Given the description of an element on the screen output the (x, y) to click on. 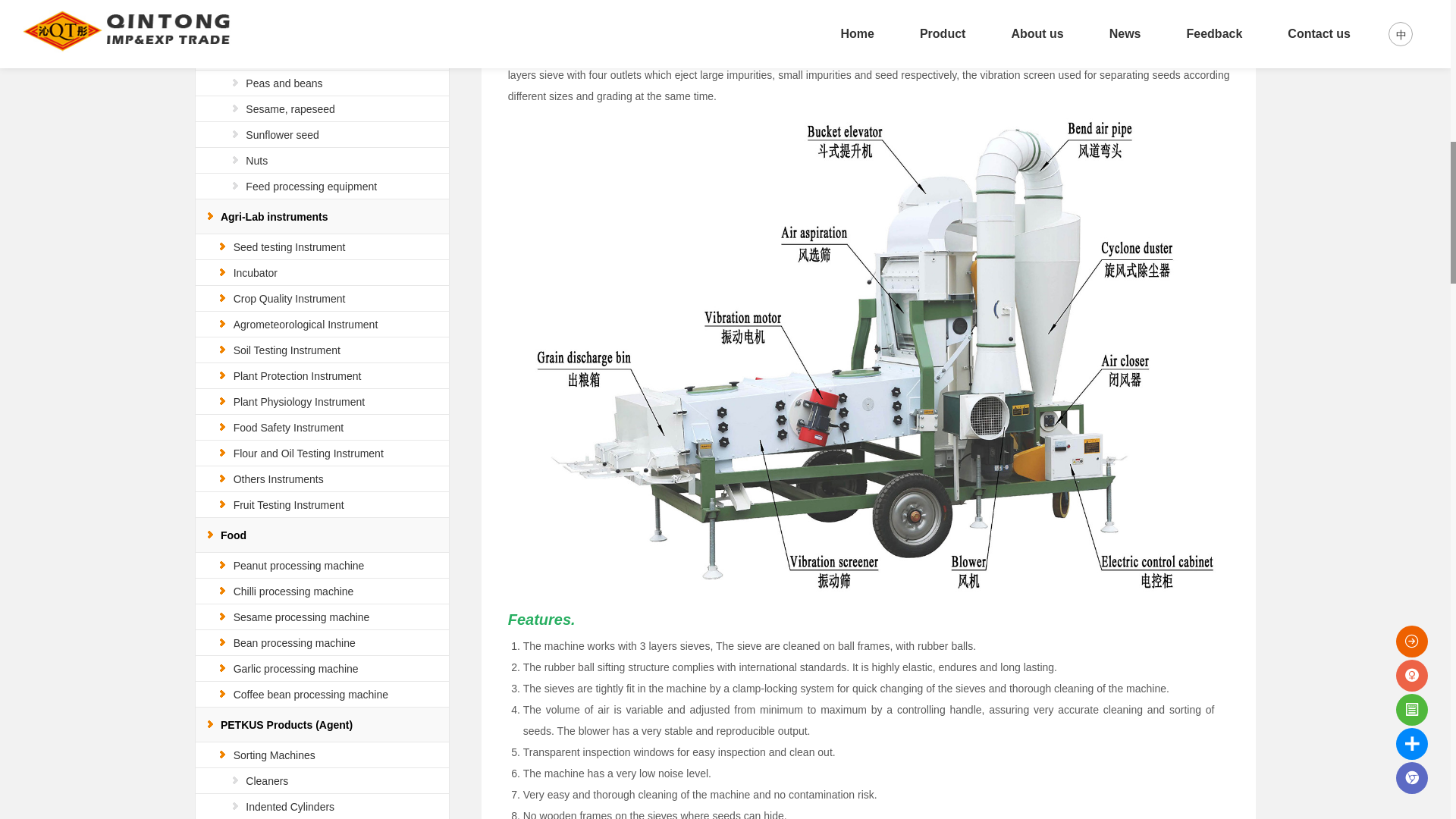
Sunflower seed (282, 134)
Nuts (256, 160)
ENTER (1372, 17)
Wheat, Paddy seed (291, 31)
Feed processing equipment (311, 186)
Maize (259, 57)
Peas and beans (283, 82)
Sesame, rapeseed (290, 109)
Agri-Lab instruments (275, 216)
Corp (244, 6)
